Given the description of an element on the screen output the (x, y) to click on. 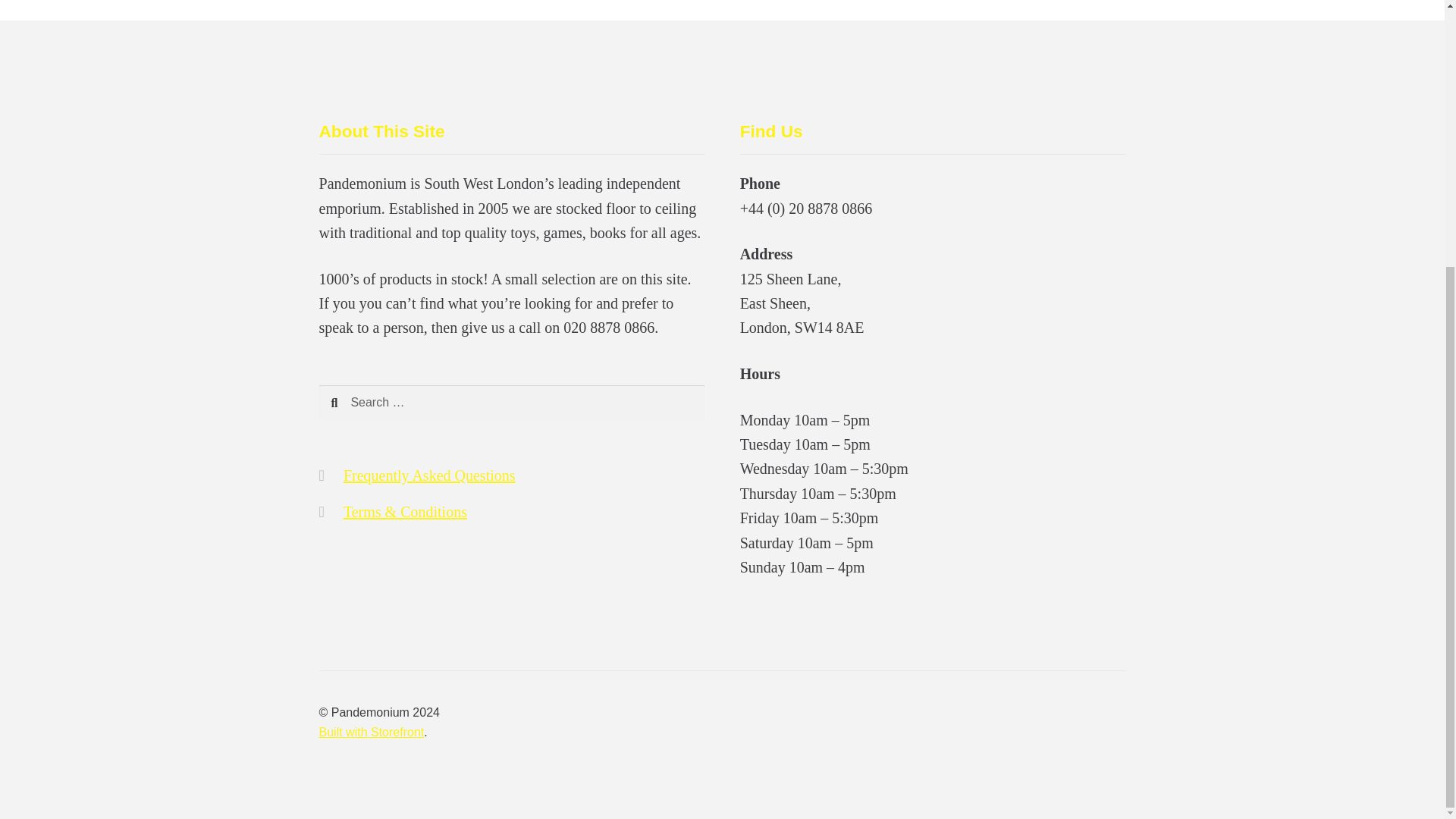
Frequently Asked Questions (429, 475)
Built with Storefront (371, 731)
